Given the description of an element on the screen output the (x, y) to click on. 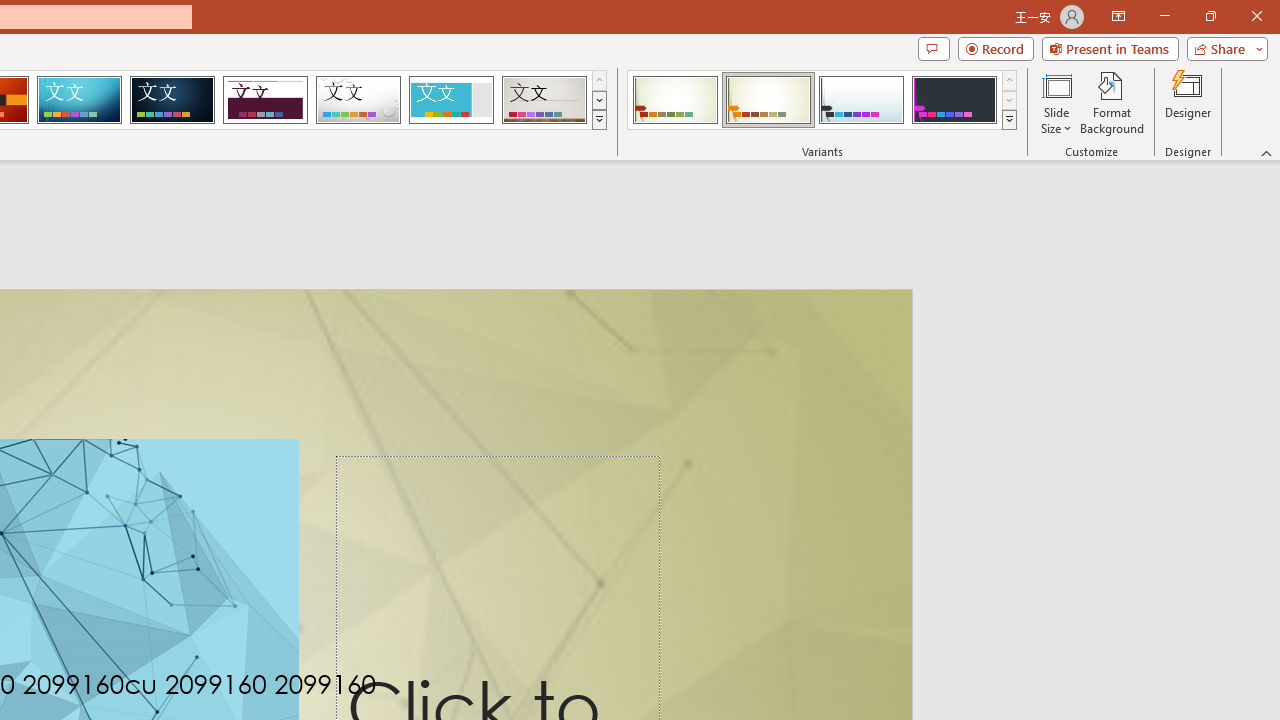
Slide Size (1056, 102)
Themes (598, 120)
AutomationID: ThemeVariantsGallery (822, 99)
Variants (1009, 120)
Wisp Variant 3 (861, 100)
Circuit Loading Preview... (79, 100)
Damask Loading Preview... (171, 100)
